Given the description of an element on the screen output the (x, y) to click on. 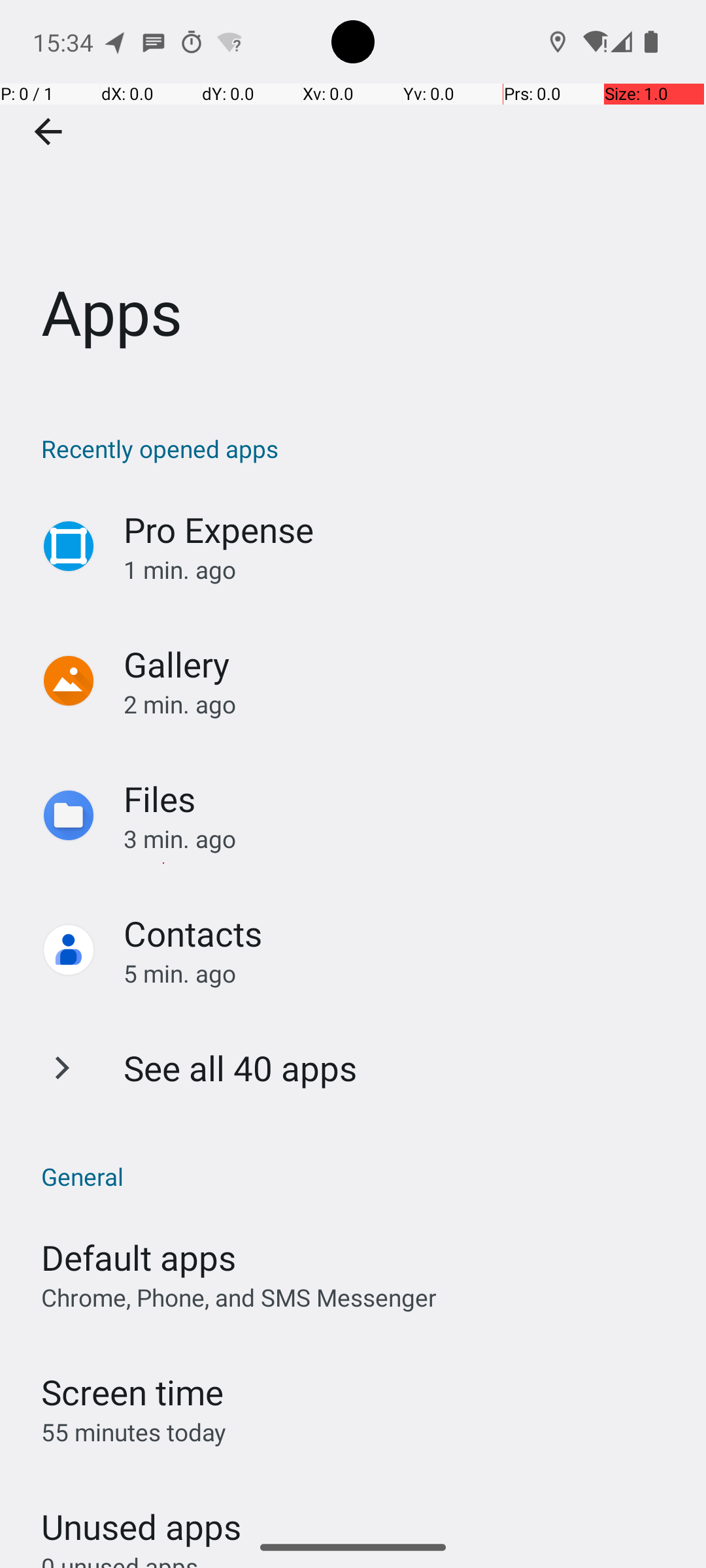
5 min. ago Element type: android.widget.TextView (400, 972)
See all 40 apps Element type: android.widget.TextView (239, 1067)
55 minutes today Element type: android.widget.TextView (133, 1431)
